Given the description of an element on the screen output the (x, y) to click on. 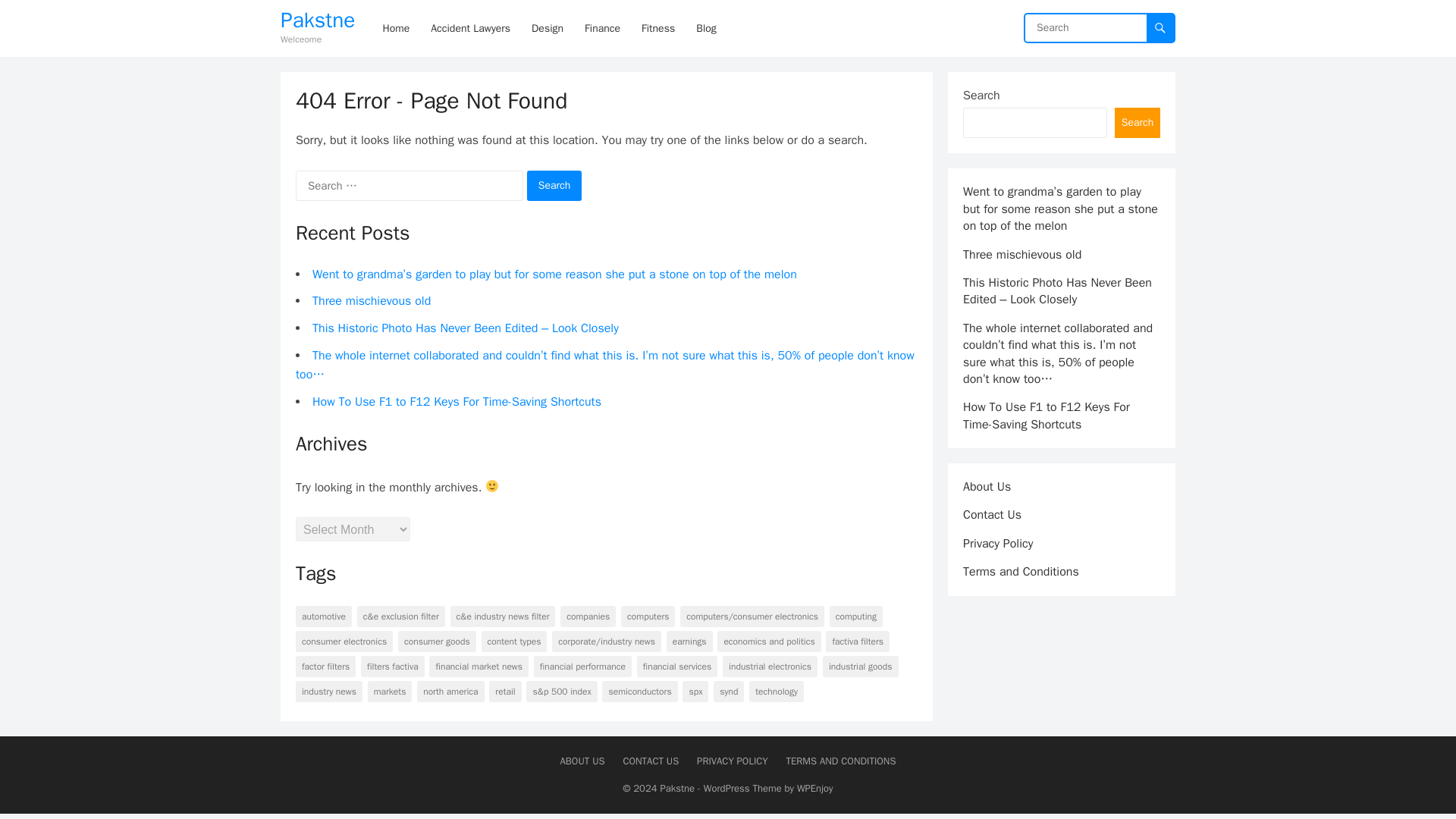
financial market news (478, 666)
Fitness (657, 28)
Search (554, 185)
automotive (323, 616)
filters factiva (393, 666)
factiva filters (857, 640)
content types (514, 640)
Search (554, 185)
computing (855, 616)
Finance (601, 28)
economics and politics (769, 640)
consumer electronics (344, 640)
Pakstne (318, 20)
Three mischievous old (371, 300)
computers (648, 616)
